Given the description of an element on the screen output the (x, y) to click on. 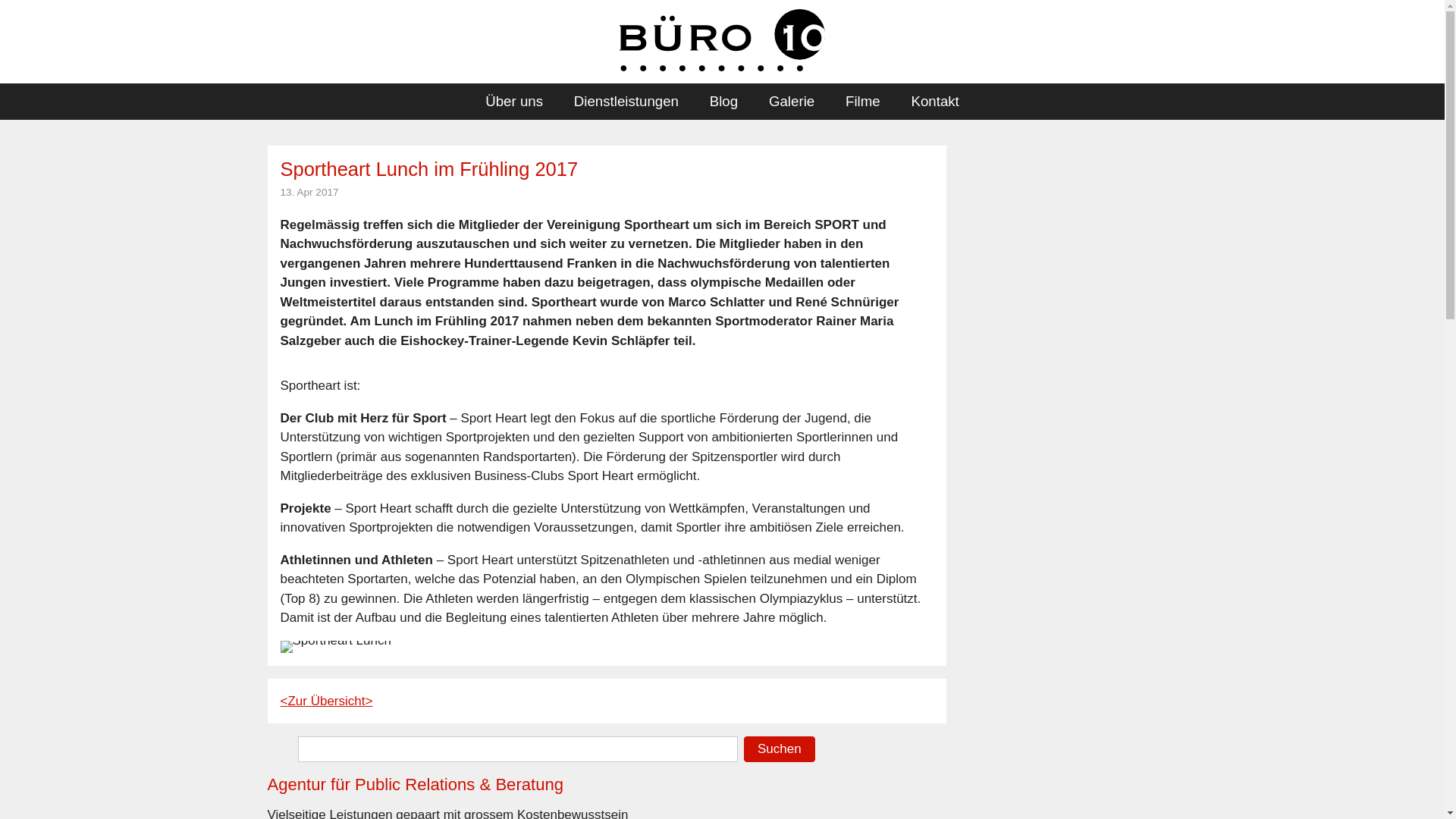
Blog Element type: text (723, 101)
< Element type: text (284, 700)
Dienstleistungen Element type: text (625, 101)
Kontakt Element type: text (934, 101)
Zur Startseite Element type: hover (721, 40)
Galerie Element type: text (791, 101)
> Element type: text (368, 700)
Suchen Element type: text (779, 749)
Sportheart Lunch Element type: hover (335, 646)
Filme Element type: text (862, 101)
